Given the description of an element on the screen output the (x, y) to click on. 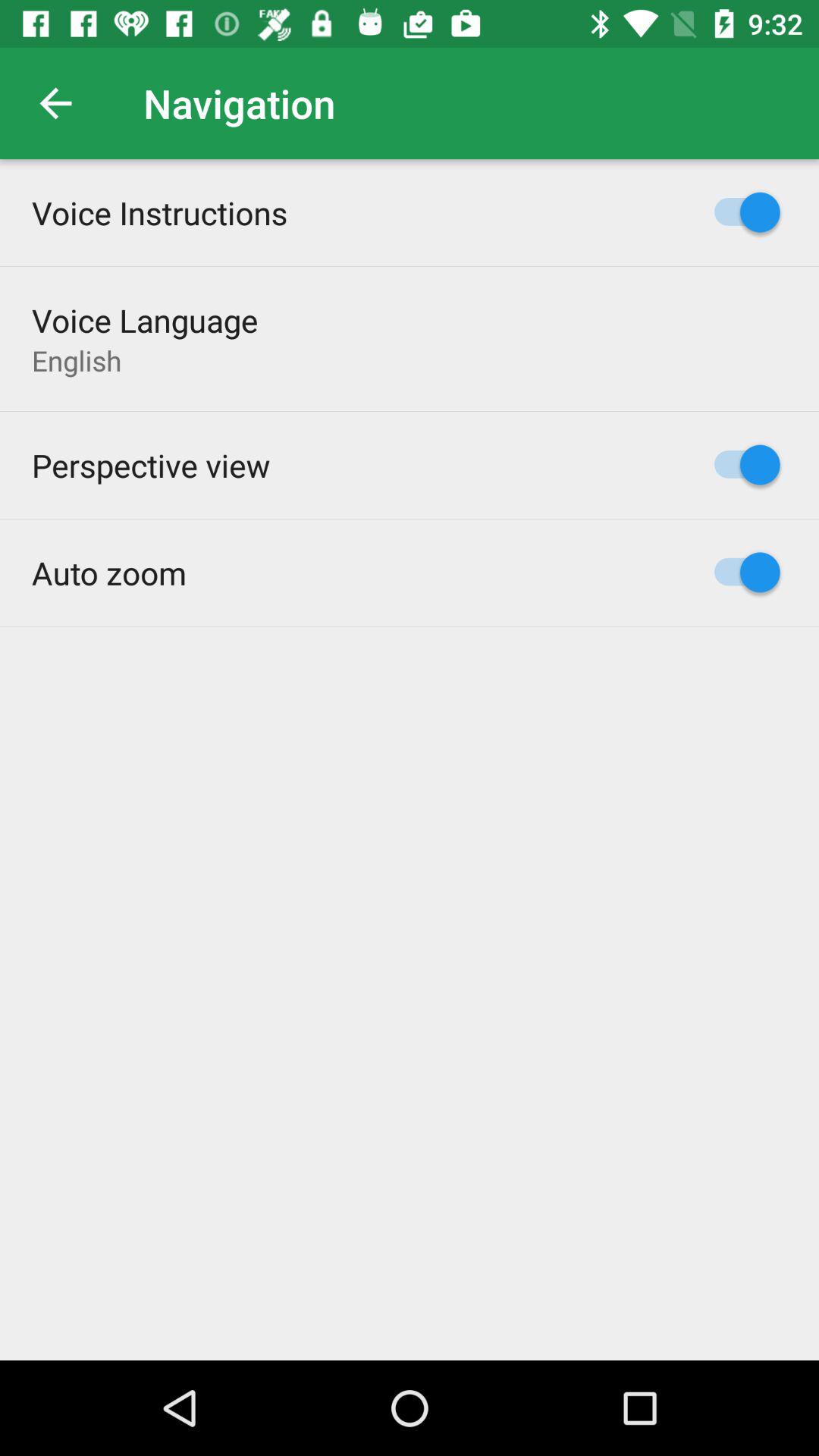
choose the english (76, 360)
